Given the description of an element on the screen output the (x, y) to click on. 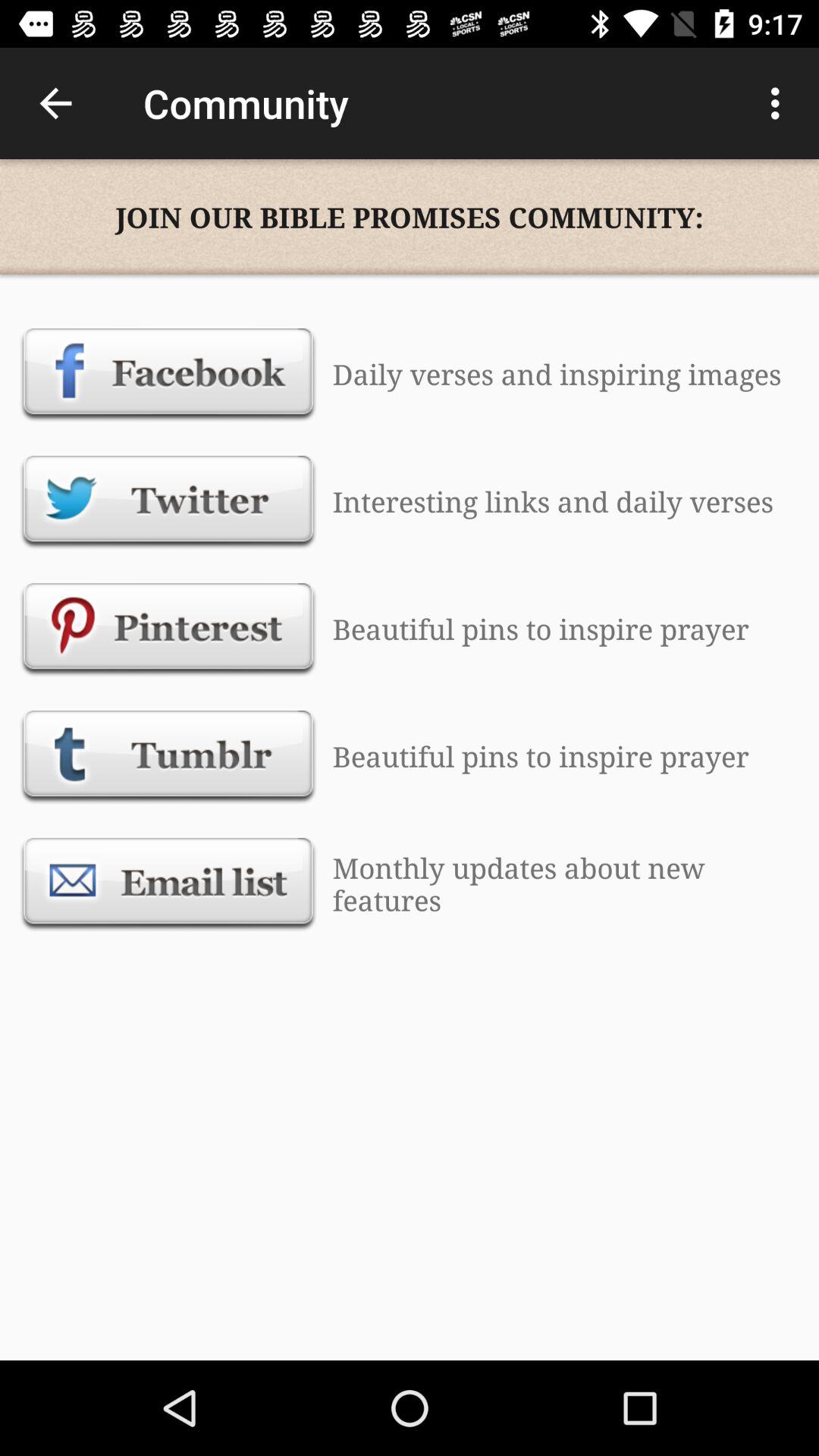
open icon above the join our bible (55, 103)
